Given the description of an element on the screen output the (x, y) to click on. 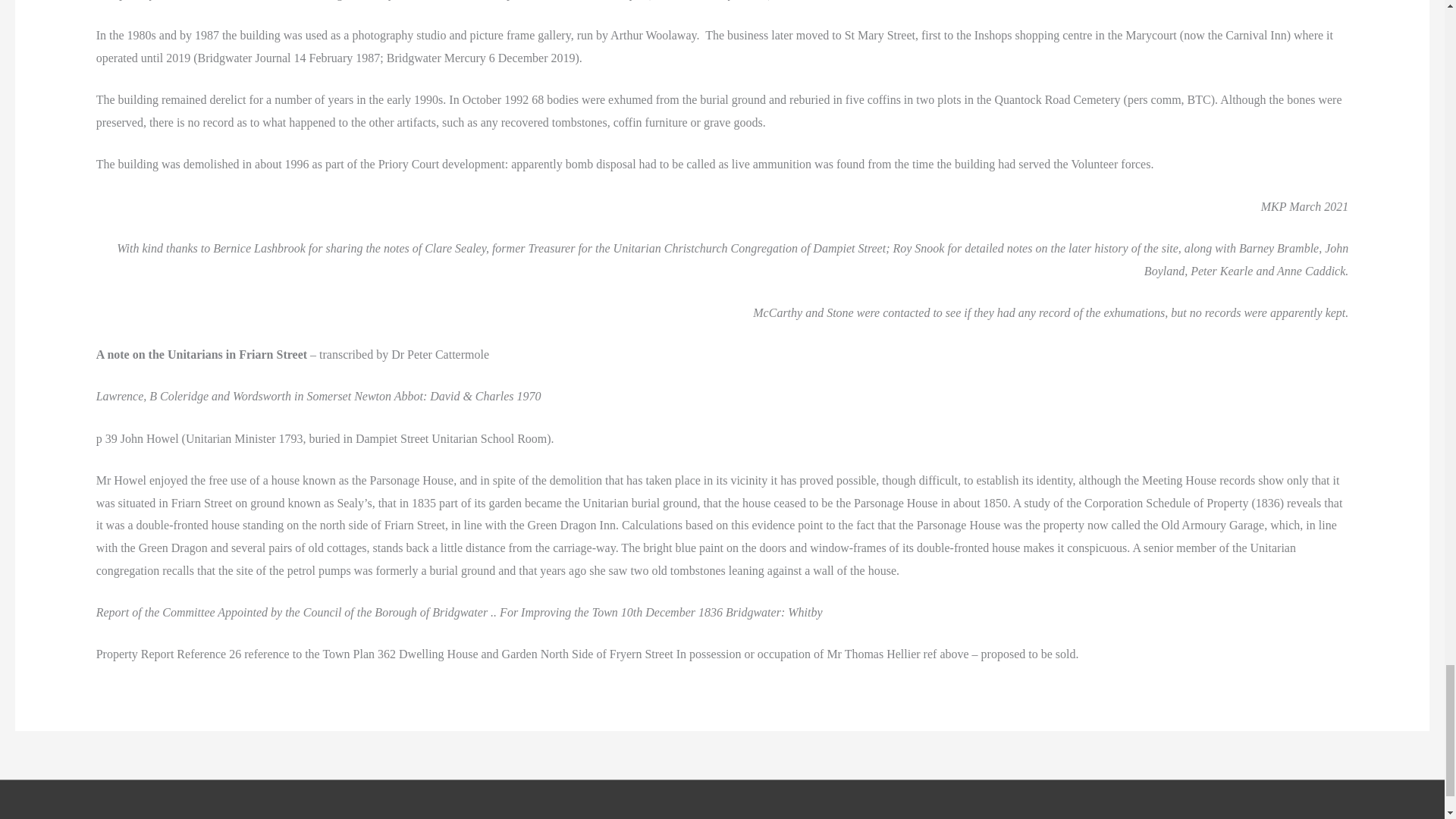
SSL Certificate (927, 815)
